Given the description of an element on the screen output the (x, y) to click on. 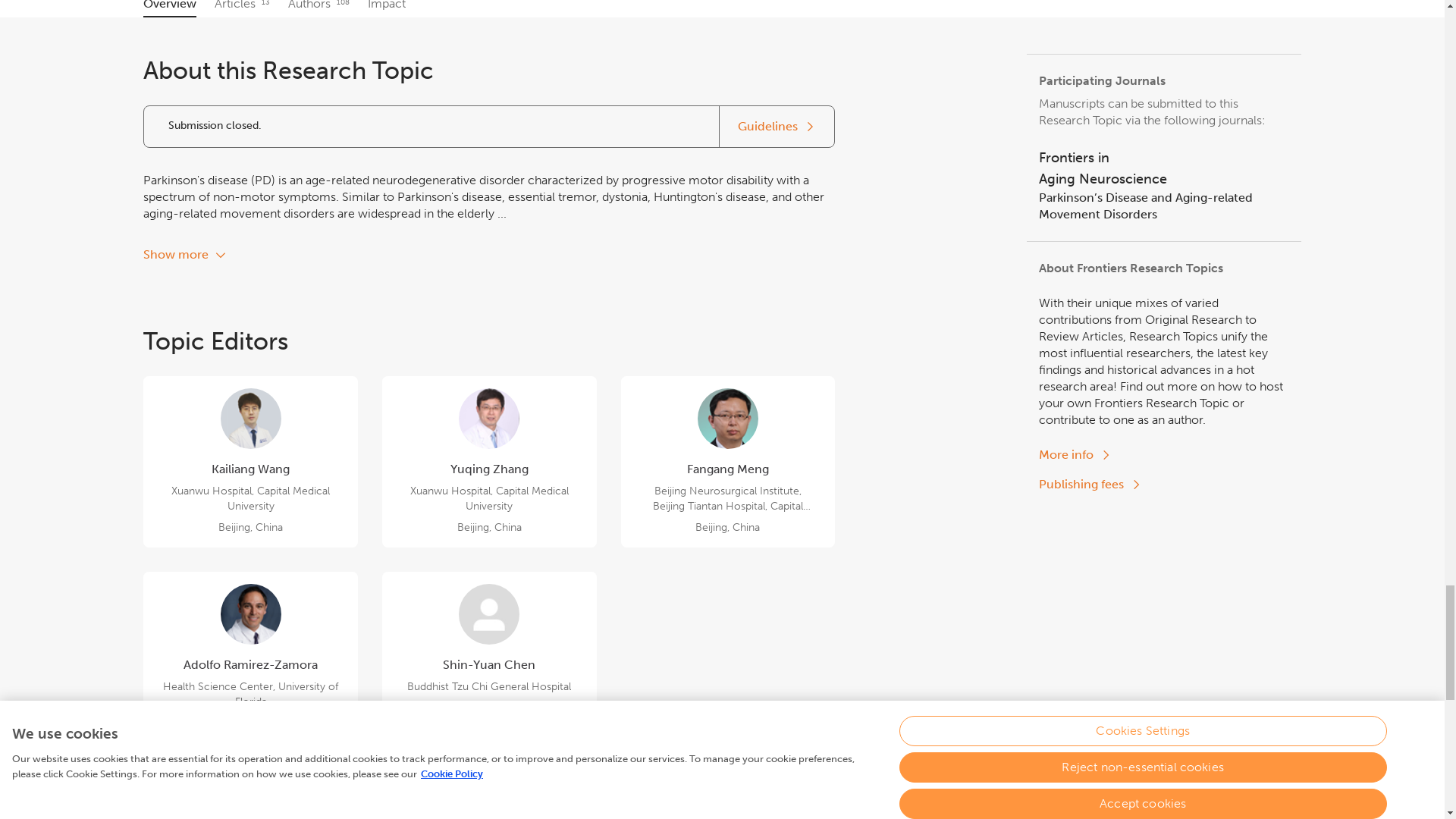
Articles 13 (241, 7)
Show more (1163, 168)
More info (184, 254)
Overview (1075, 454)
Guidelines (169, 7)
